Given the description of an element on the screen output the (x, y) to click on. 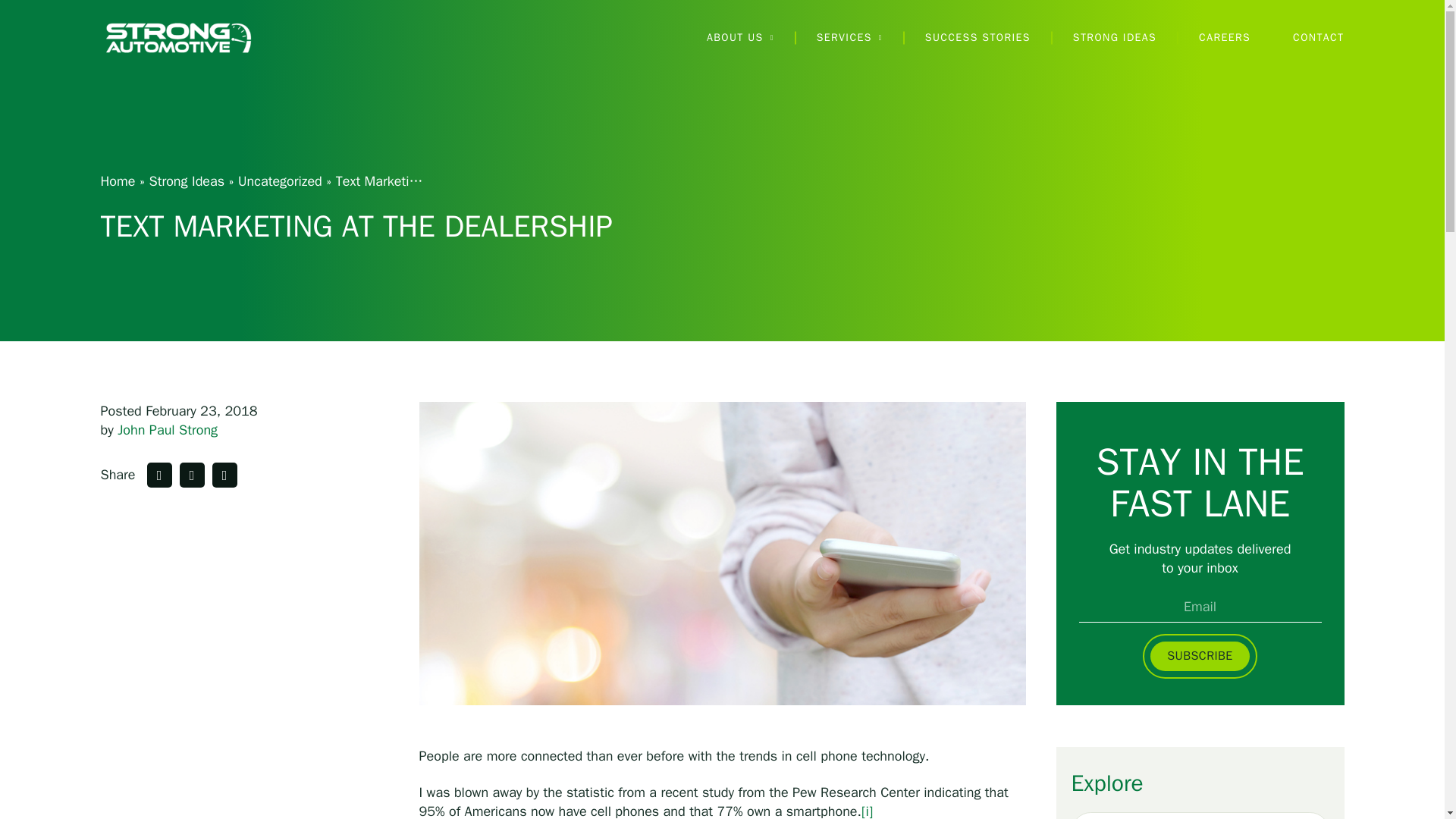
Strong Automotive (178, 37)
SERVICES (850, 37)
CONTACT (1318, 37)
ABOUT US (740, 37)
STRONG IDEAS (1115, 37)
SUCCESS STORIES (977, 37)
CAREERS (1224, 37)
